Given the description of an element on the screen output the (x, y) to click on. 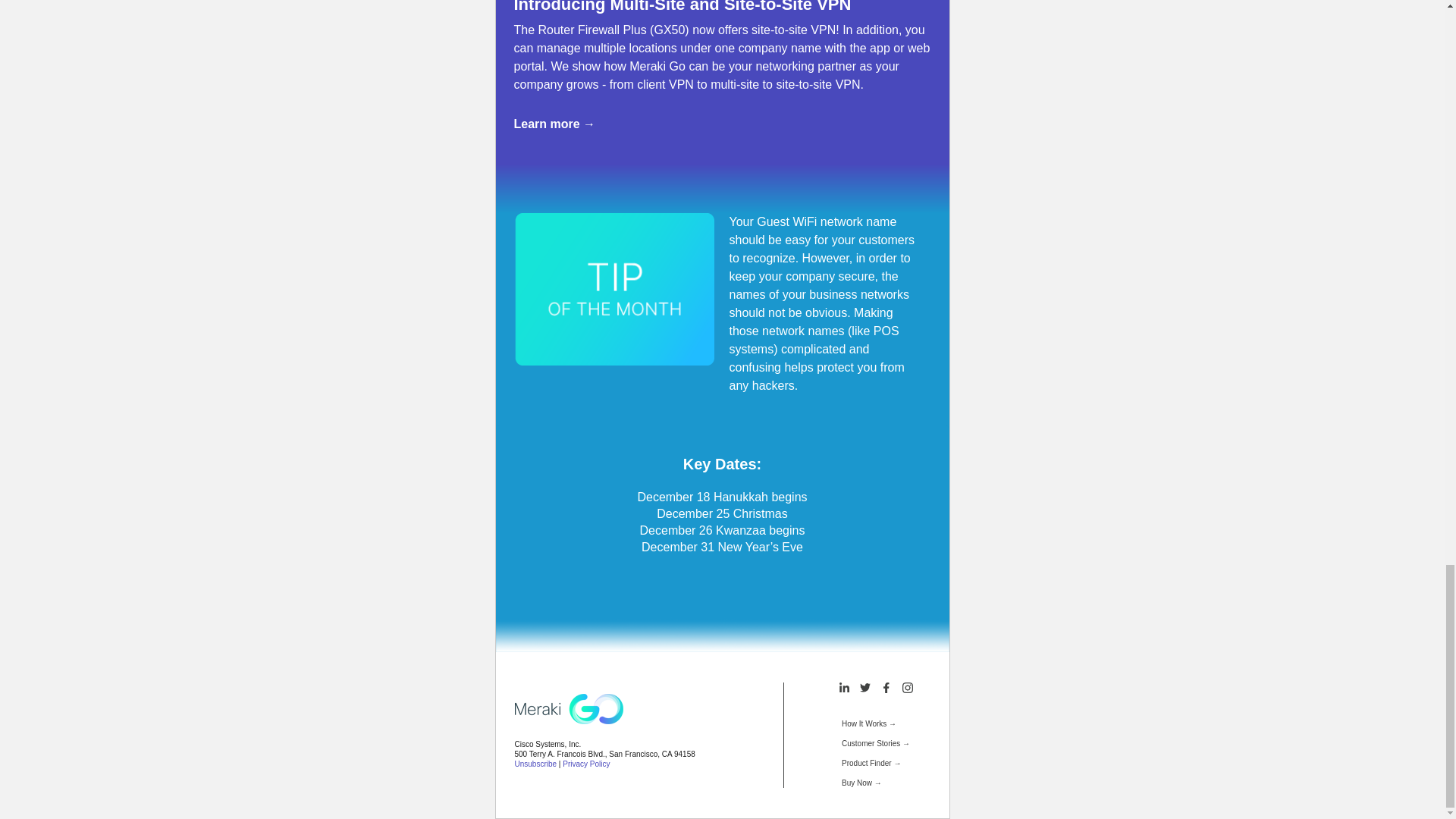
Unsubscribe (534, 764)
Meraki (568, 708)
Privacy Policy (586, 764)
